Given the description of an element on the screen output the (x, y) to click on. 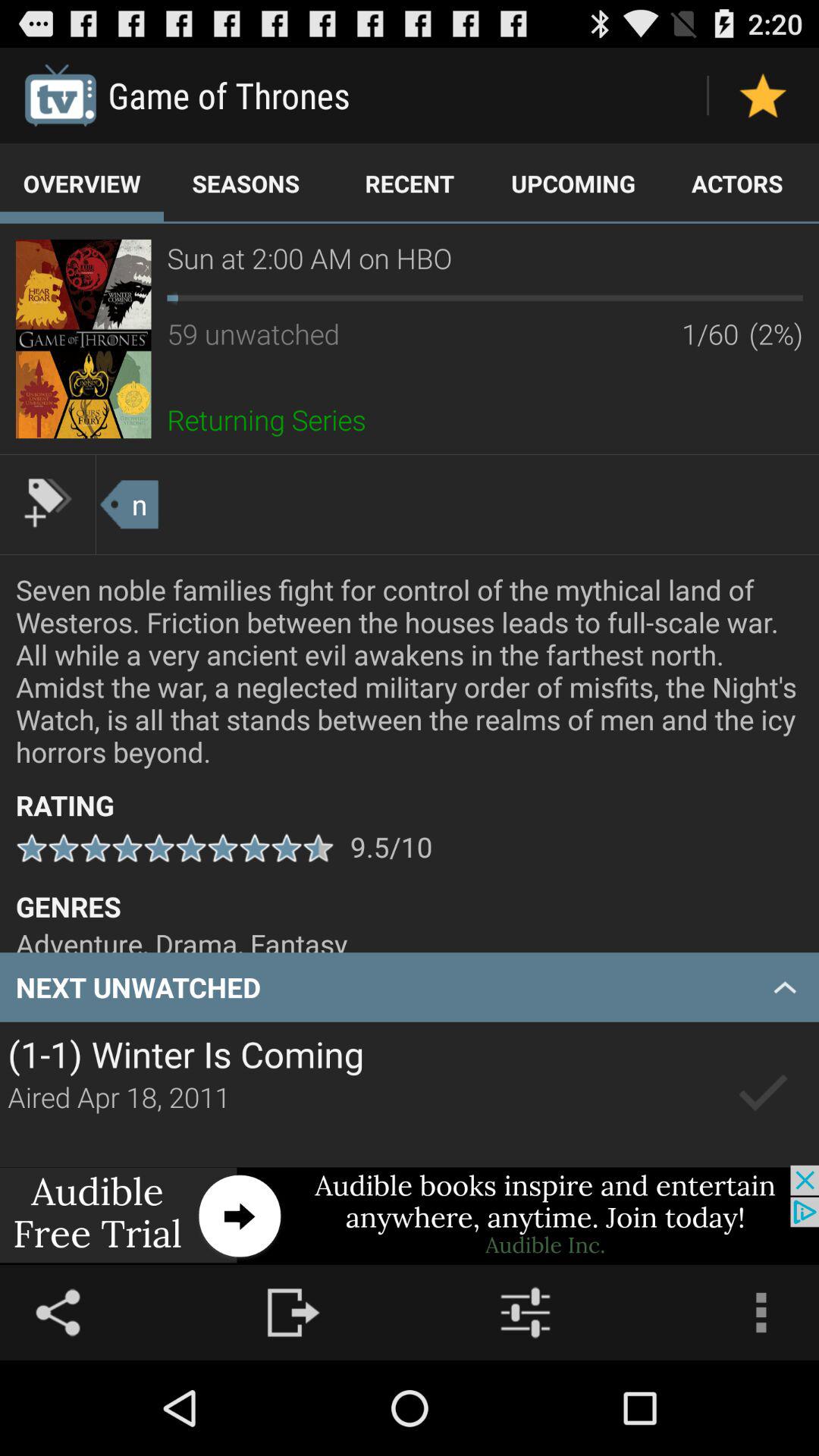
go to advertisement (409, 1214)
